Given the description of an element on the screen output the (x, y) to click on. 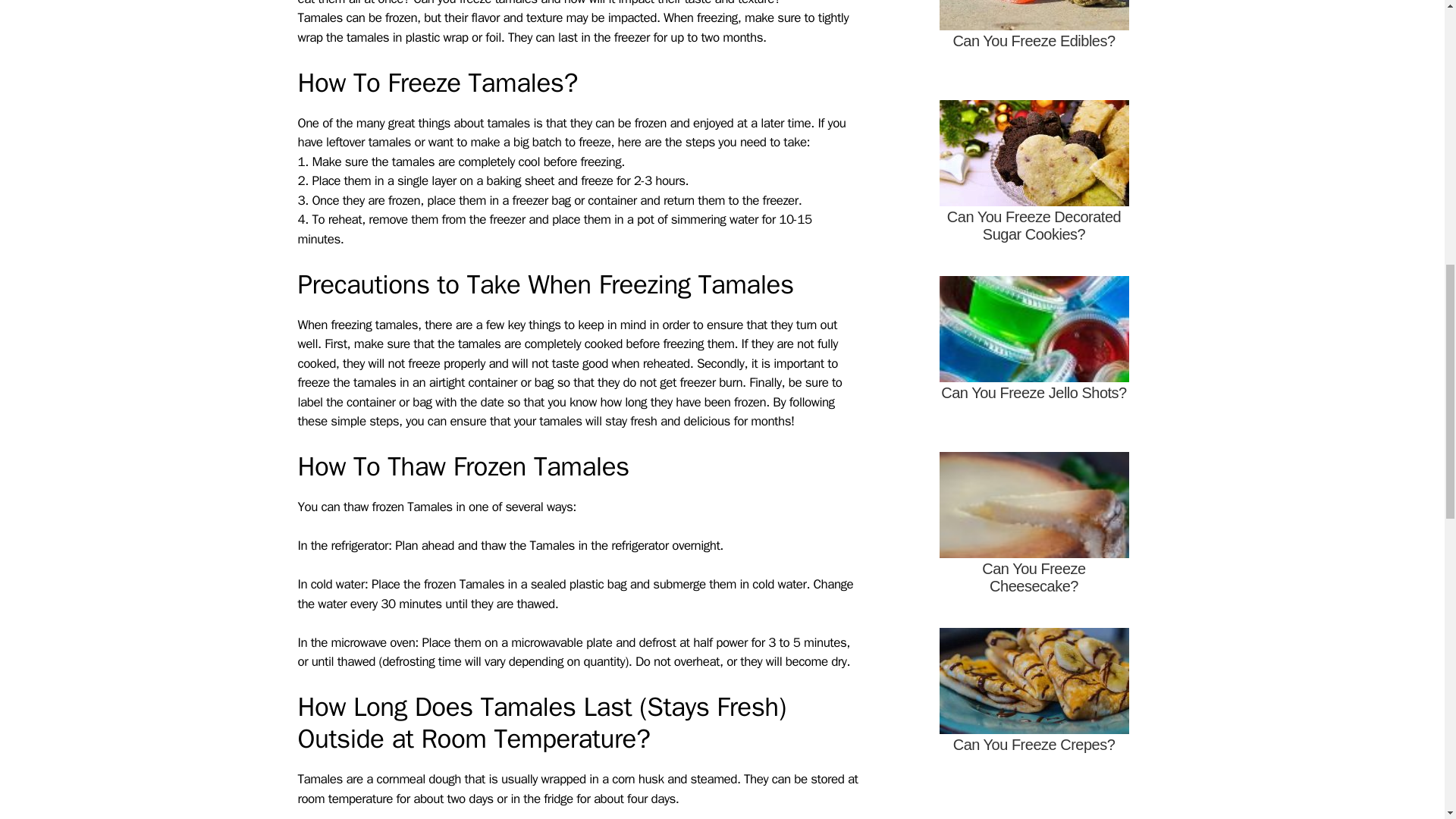
Can You Freeze Edibles? (1033, 45)
Can You Freeze Jello Shots? (1033, 357)
Can You Freeze Waffle Batter? (1033, 809)
Can You Freeze Crepes? (1033, 709)
Can You Freeze Cheesecake? (1033, 533)
Can You Freeze Decorated Sugar Cookies? (1033, 181)
